Given the description of an element on the screen output the (x, y) to click on. 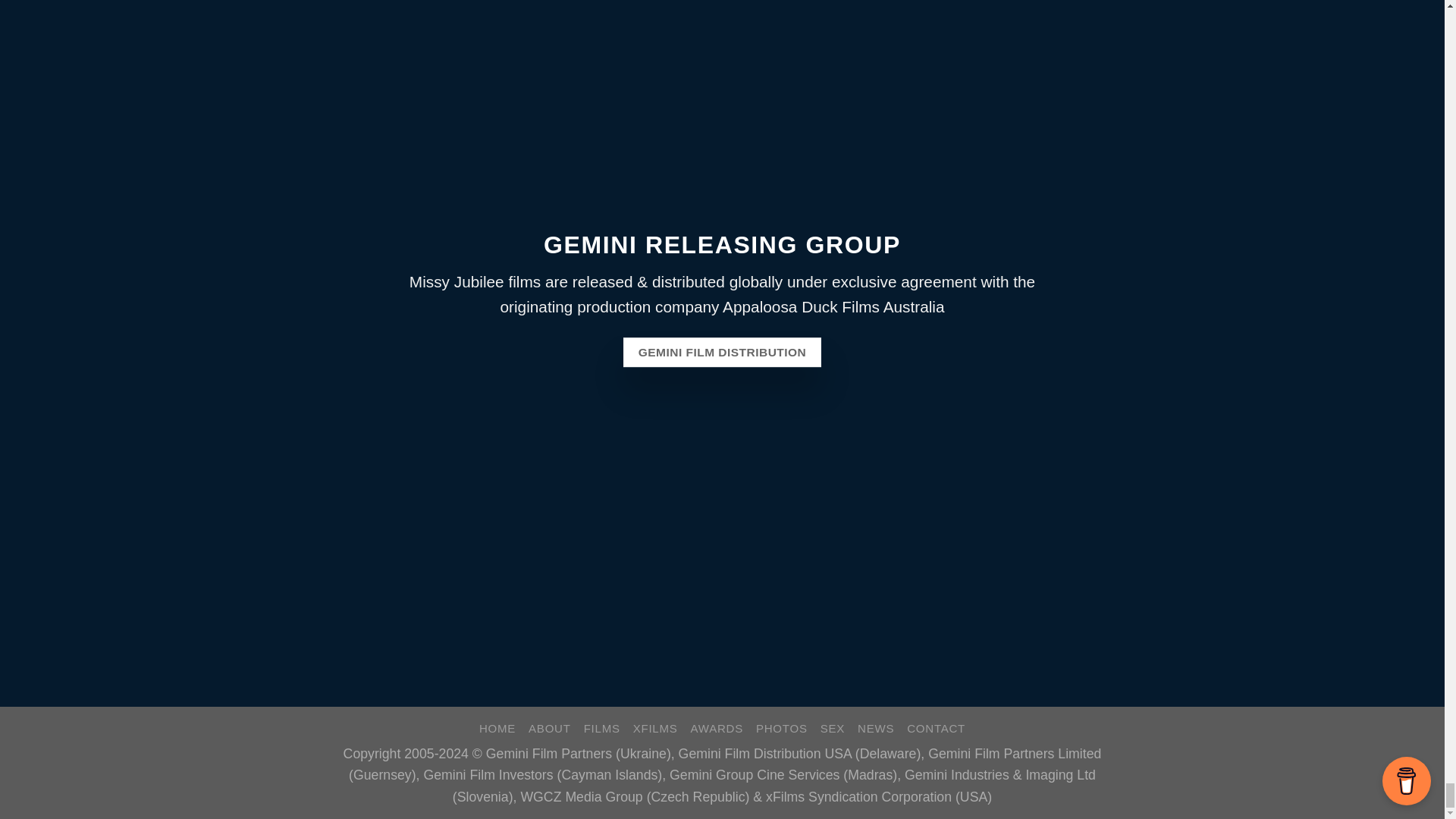
Missy Jubilee films (474, 281)
